Given the description of an element on the screen output the (x, y) to click on. 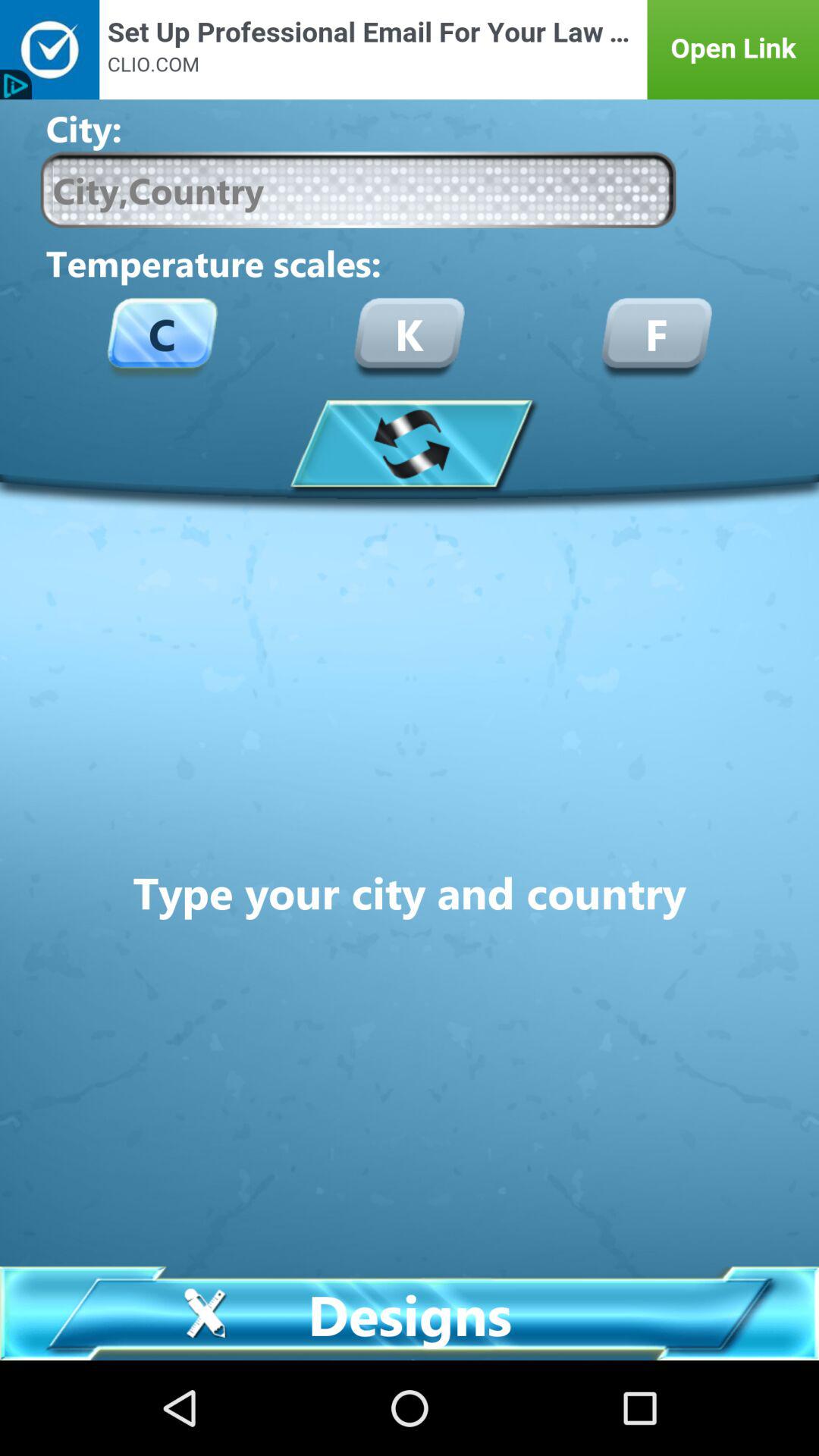
go to review (409, 443)
